Given the description of an element on the screen output the (x, y) to click on. 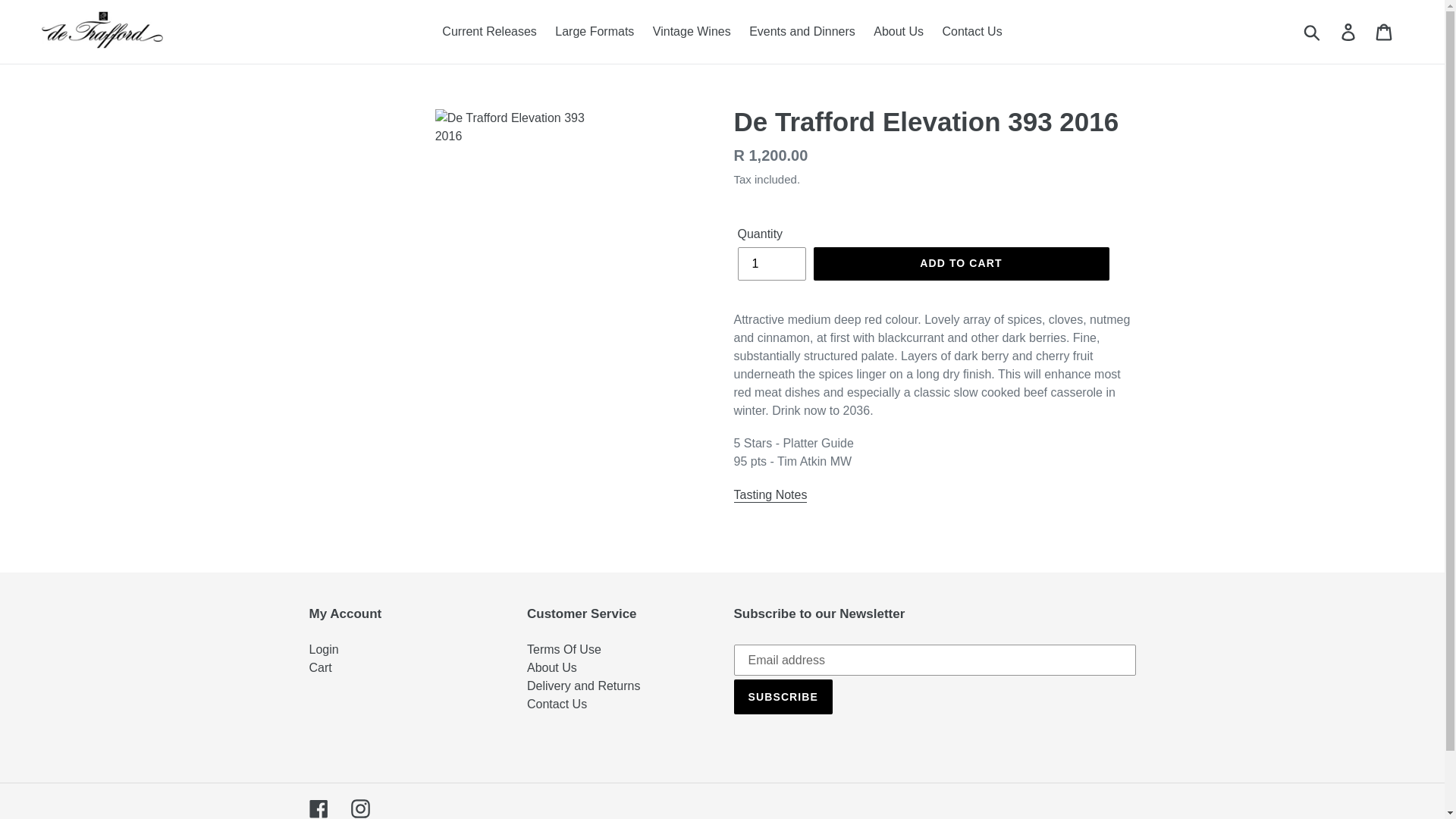
Instagram (359, 807)
Submit (1313, 31)
Log in (1349, 31)
About Us (551, 667)
Events and Dinners (802, 31)
Delivery and Returns (583, 685)
Facebook (318, 807)
1 (770, 263)
SUBSCRIBE (782, 696)
Current Releases (488, 31)
Cart (319, 667)
Cart (1385, 31)
ADD TO CART (960, 263)
Terms Of Use (564, 649)
Contact Us (971, 31)
